Given the description of an element on the screen output the (x, y) to click on. 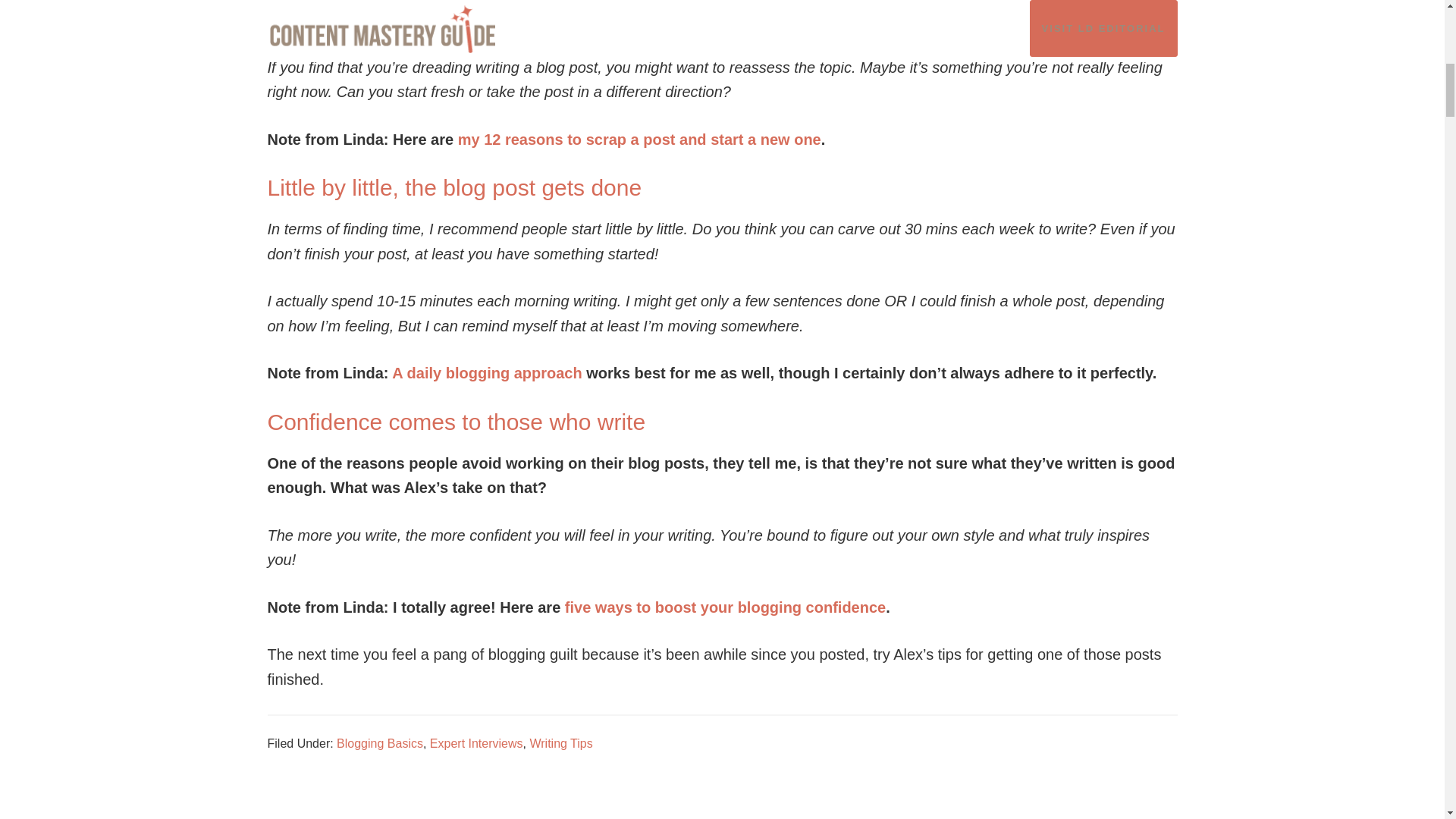
Blogging Basics (379, 743)
Writing Tips (560, 743)
A daily blogging approach (485, 372)
five ways to boost your blogging confidence (724, 606)
Expert Interviews (475, 743)
my 12 reasons to scrap a post and start a new one (639, 139)
